Given the description of an element on the screen output the (x, y) to click on. 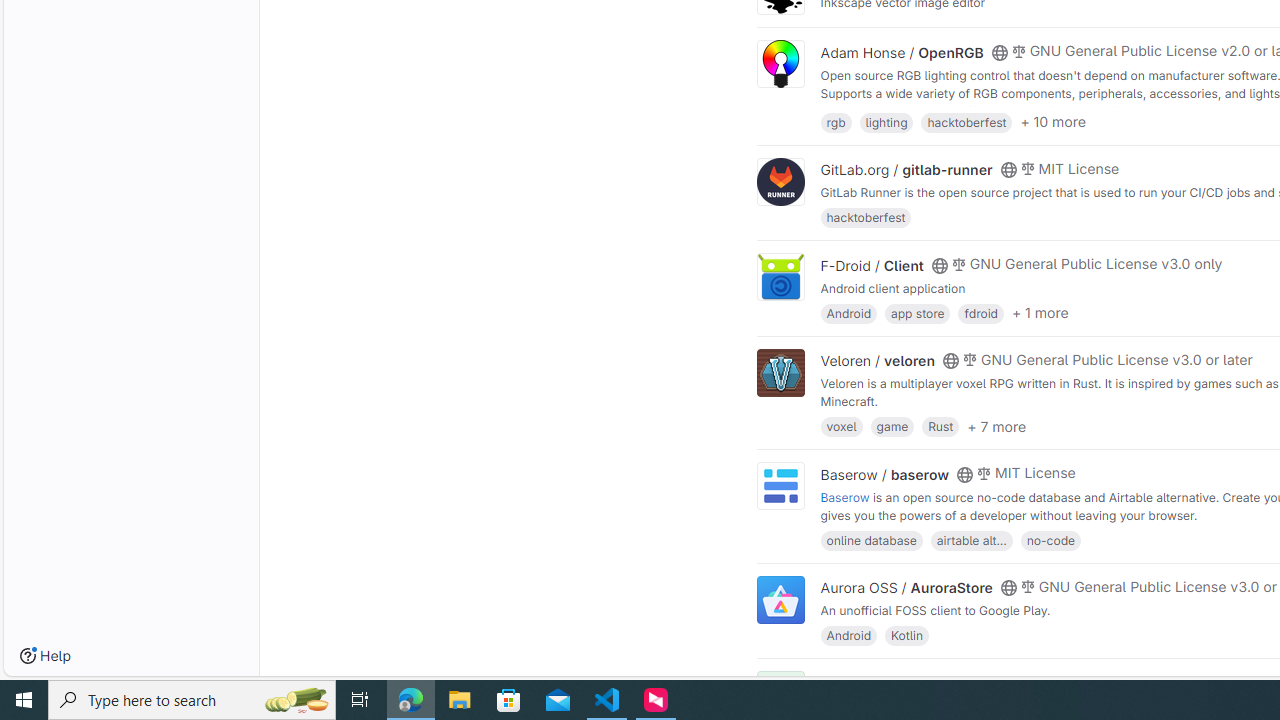
lighting (886, 120)
airtable alt... (971, 539)
+ 1 more (1039, 313)
Kotlin (907, 634)
F (780, 695)
fdroid (980, 312)
Search highlights icon opens search home window (295, 699)
online database (871, 539)
Veloren / veloren (877, 361)
